Given the description of an element on the screen output the (x, y) to click on. 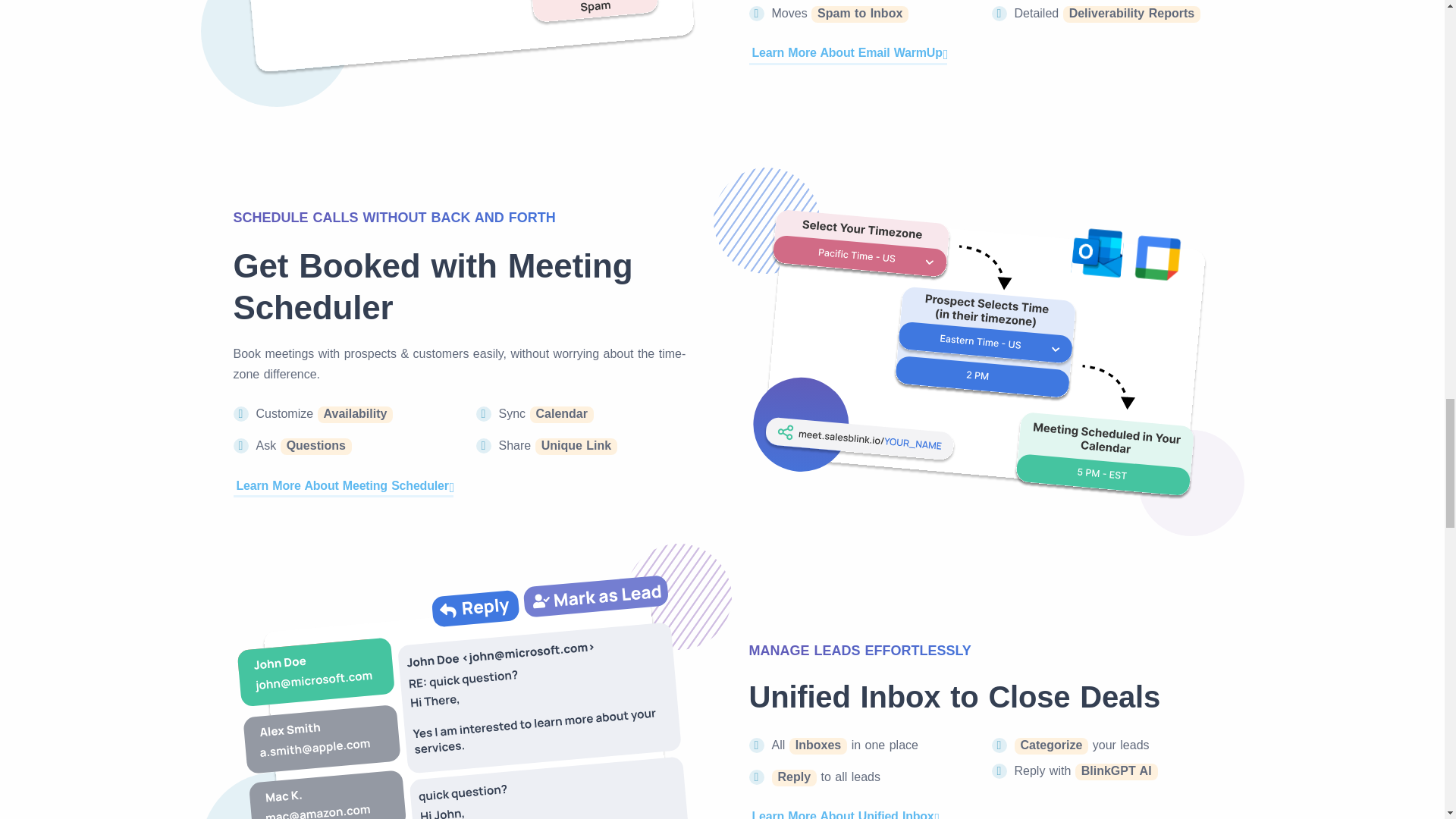
Learn More About Meeting Scheduler (343, 485)
SalesBlink Email WarmUp Deliverability (463, 38)
Learn More About Email WarmUp (848, 52)
SalesBlink Email WarmUp Deliverability (463, 696)
Learn More About Unified Inbox (844, 812)
